Given the description of an element on the screen output the (x, y) to click on. 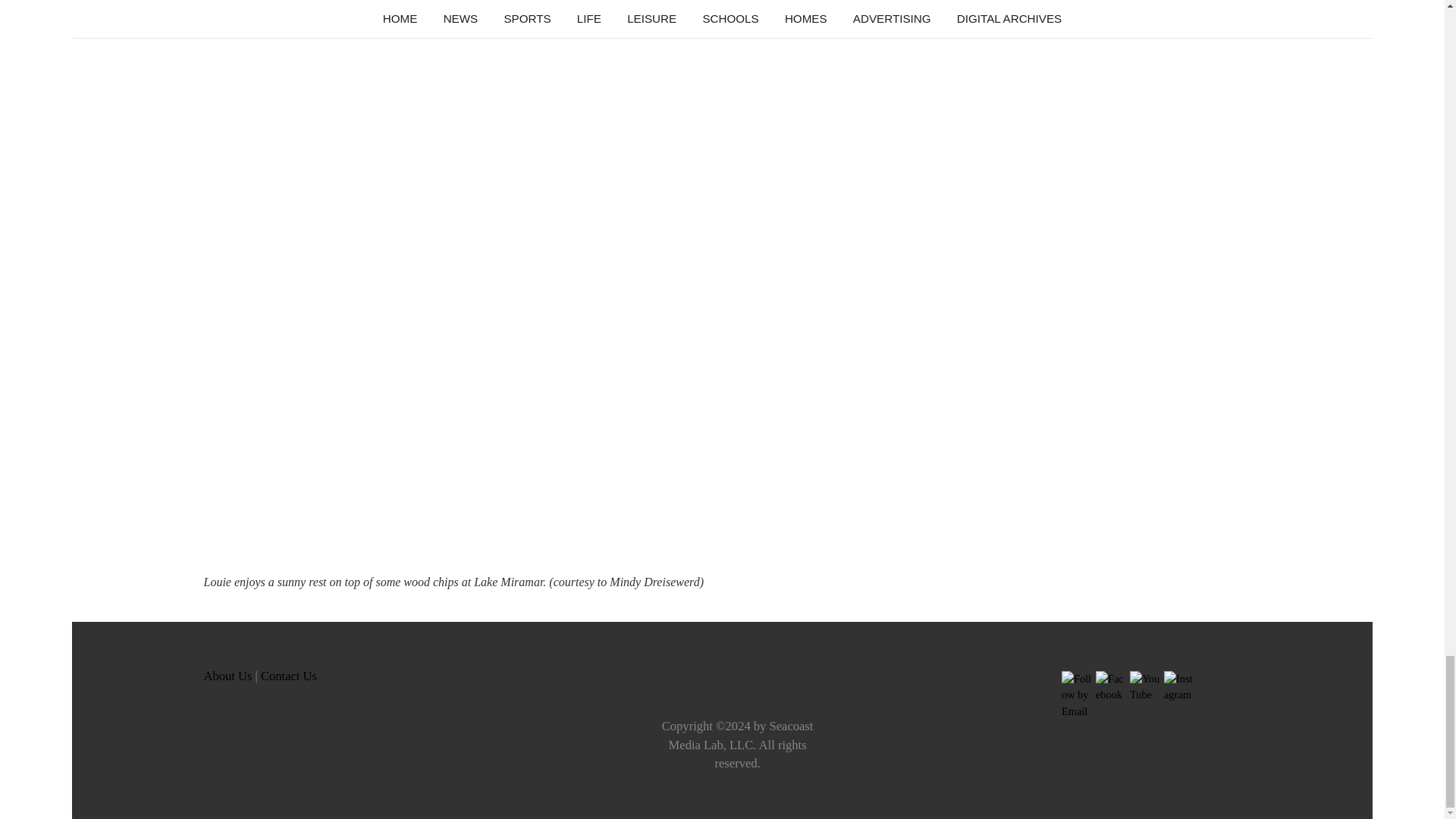
Facebook (1110, 686)
Instagram (1178, 686)
YouTube (1144, 686)
